Given the description of an element on the screen output the (x, y) to click on. 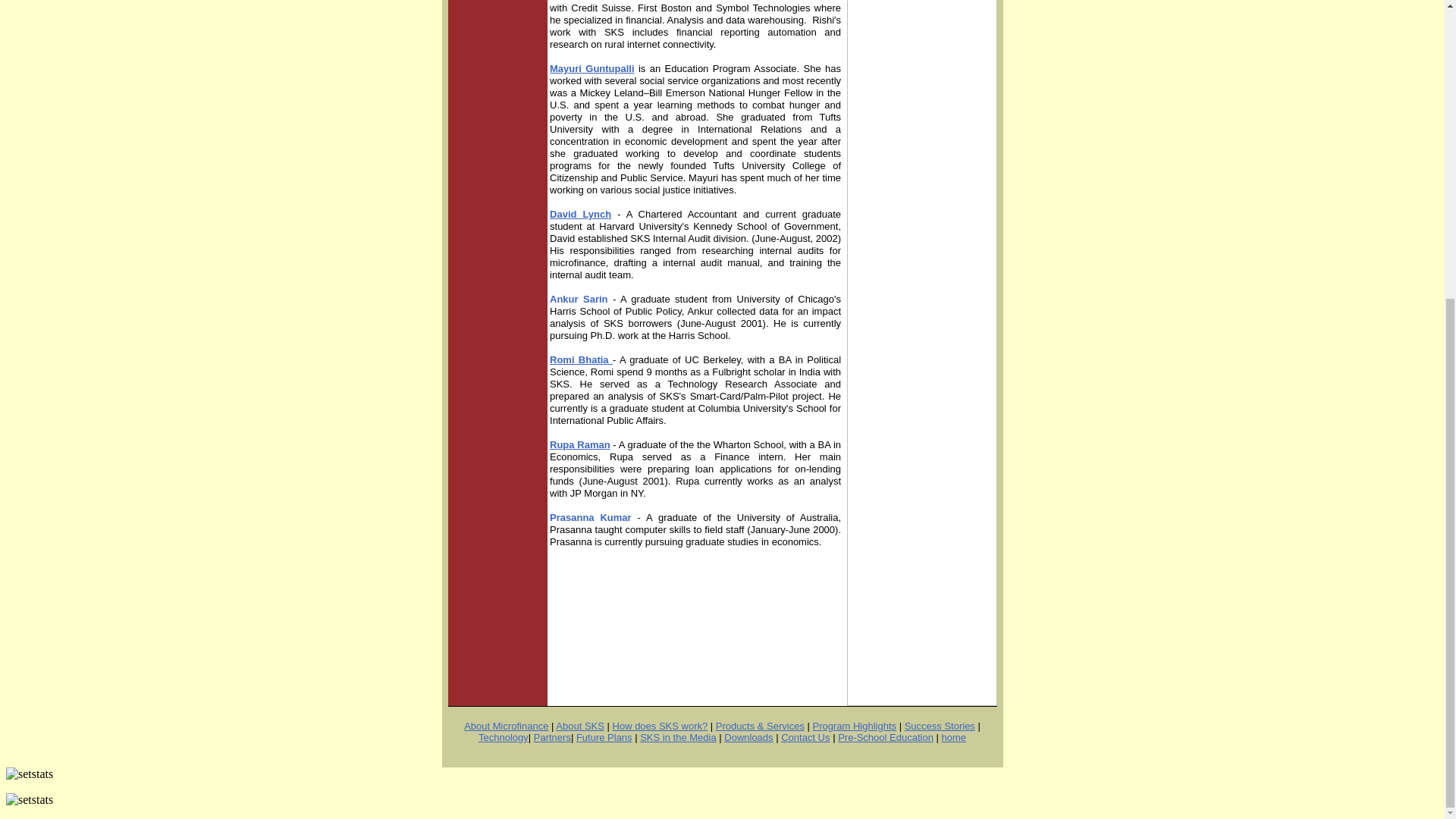
home (953, 736)
Future Plans (603, 736)
Program Highlights (854, 726)
About SKS (580, 726)
Downloads (748, 736)
Romi Bhatia (581, 359)
How does SKS work? (659, 726)
Mayuri Guntupalli (592, 68)
Success Stories (939, 726)
David Lynch (580, 214)
Rupa Raman (580, 444)
About Microfinance (506, 726)
SKS in the Media (678, 736)
Technology (503, 736)
Pre-School Education (885, 736)
